Given the description of an element on the screen output the (x, y) to click on. 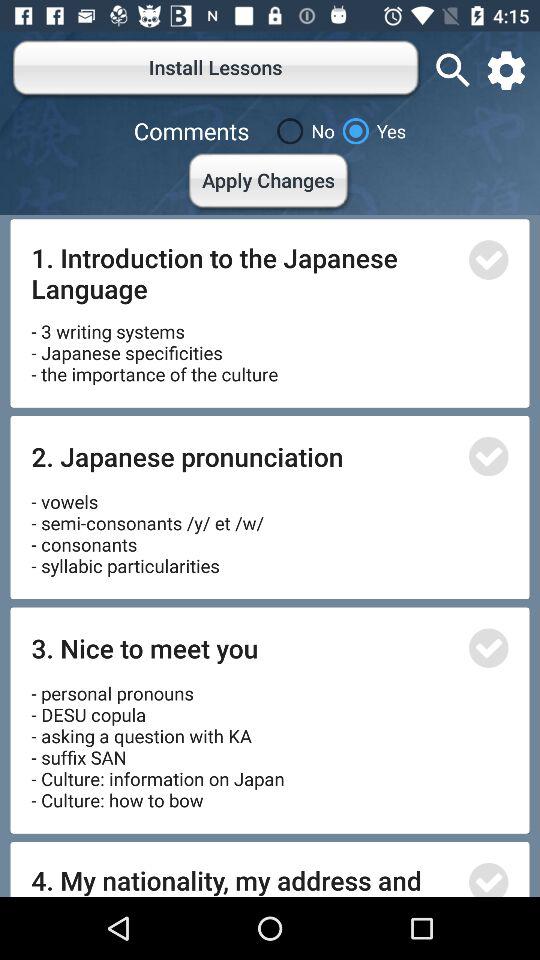
press item below 1 introduction to (154, 345)
